Given the description of an element on the screen output the (x, y) to click on. 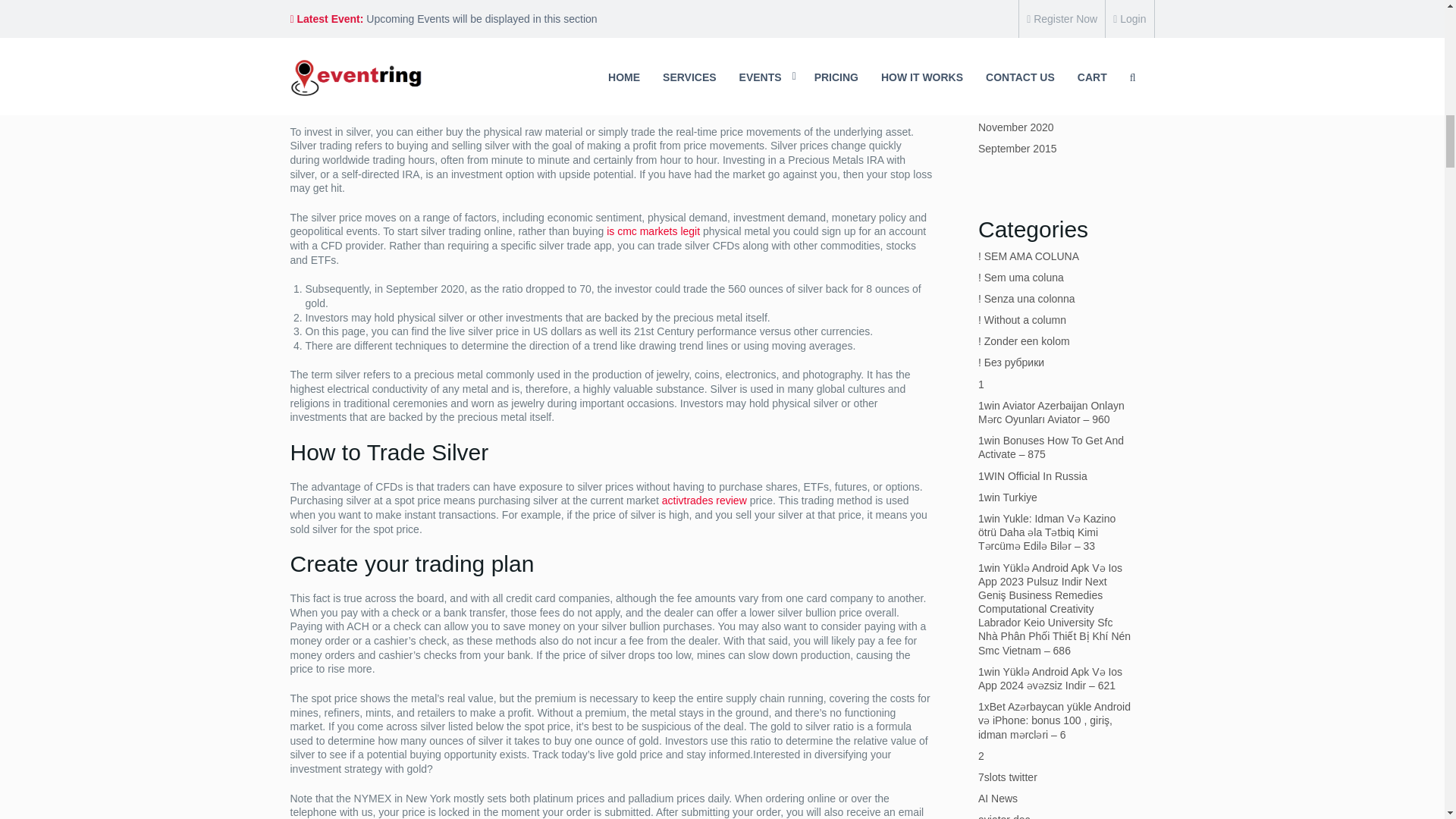
activtrades review (704, 500)
is cmc markets legit (653, 231)
bittrex review (609, 40)
